Given the description of an element on the screen output the (x, y) to click on. 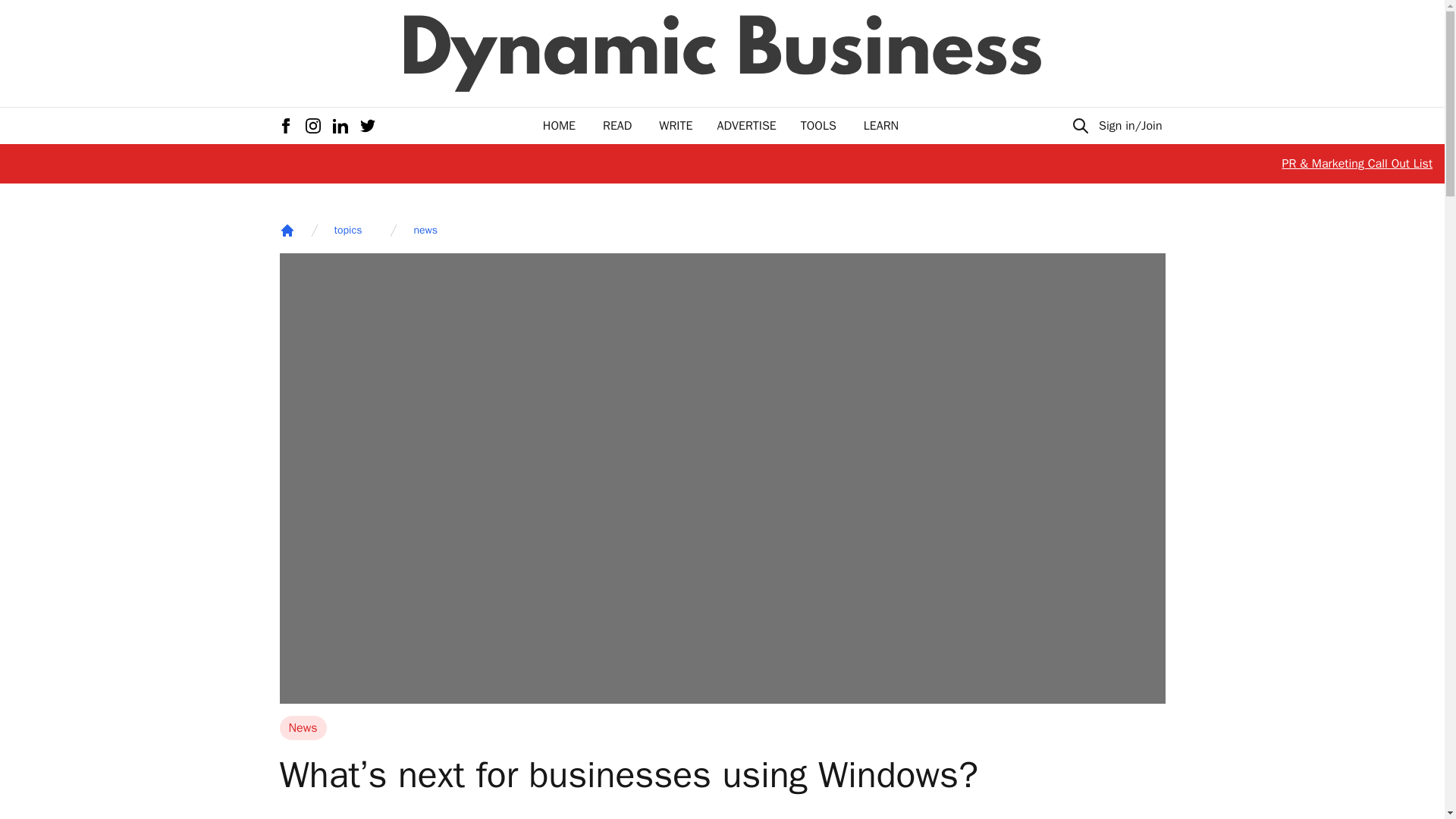
LEARN (880, 126)
Home (286, 230)
News (302, 727)
WRITE (676, 126)
ADVERTISE (746, 126)
READ (616, 126)
TOOLS (817, 126)
news (425, 230)
HOME (559, 126)
topics (347, 230)
